Given the description of an element on the screen output the (x, y) to click on. 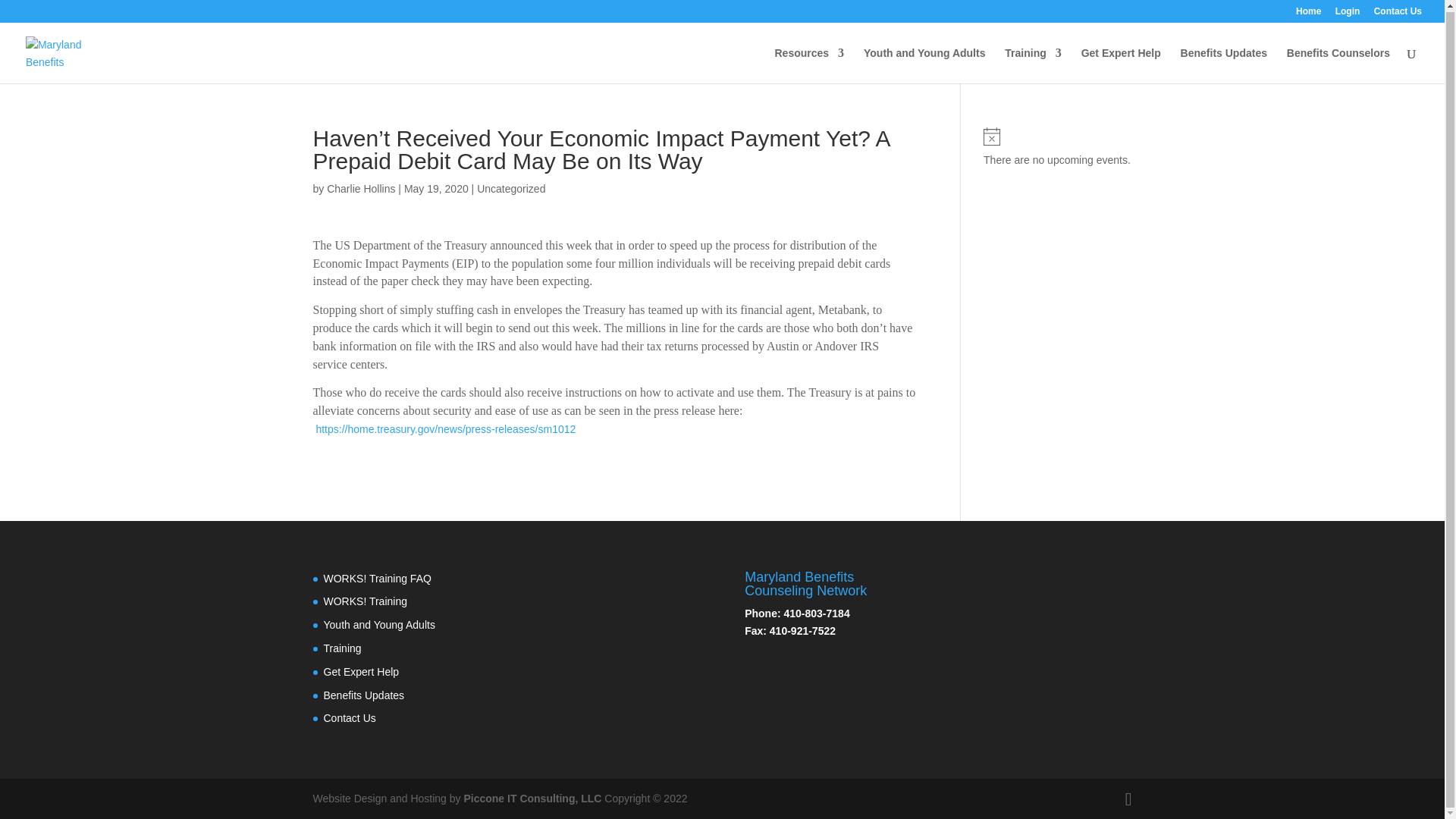
Charlie Hollins (360, 188)
WORKS! Training (364, 601)
Home (1307, 13)
Training (1032, 64)
Contact Us (1398, 13)
Youth and Young Adults (378, 624)
Piccone IT Consulting, LLC (533, 798)
WORKS! Training FAQ (376, 578)
Login (1347, 13)
Benefits Updates (363, 695)
